Given the description of an element on the screen output the (x, y) to click on. 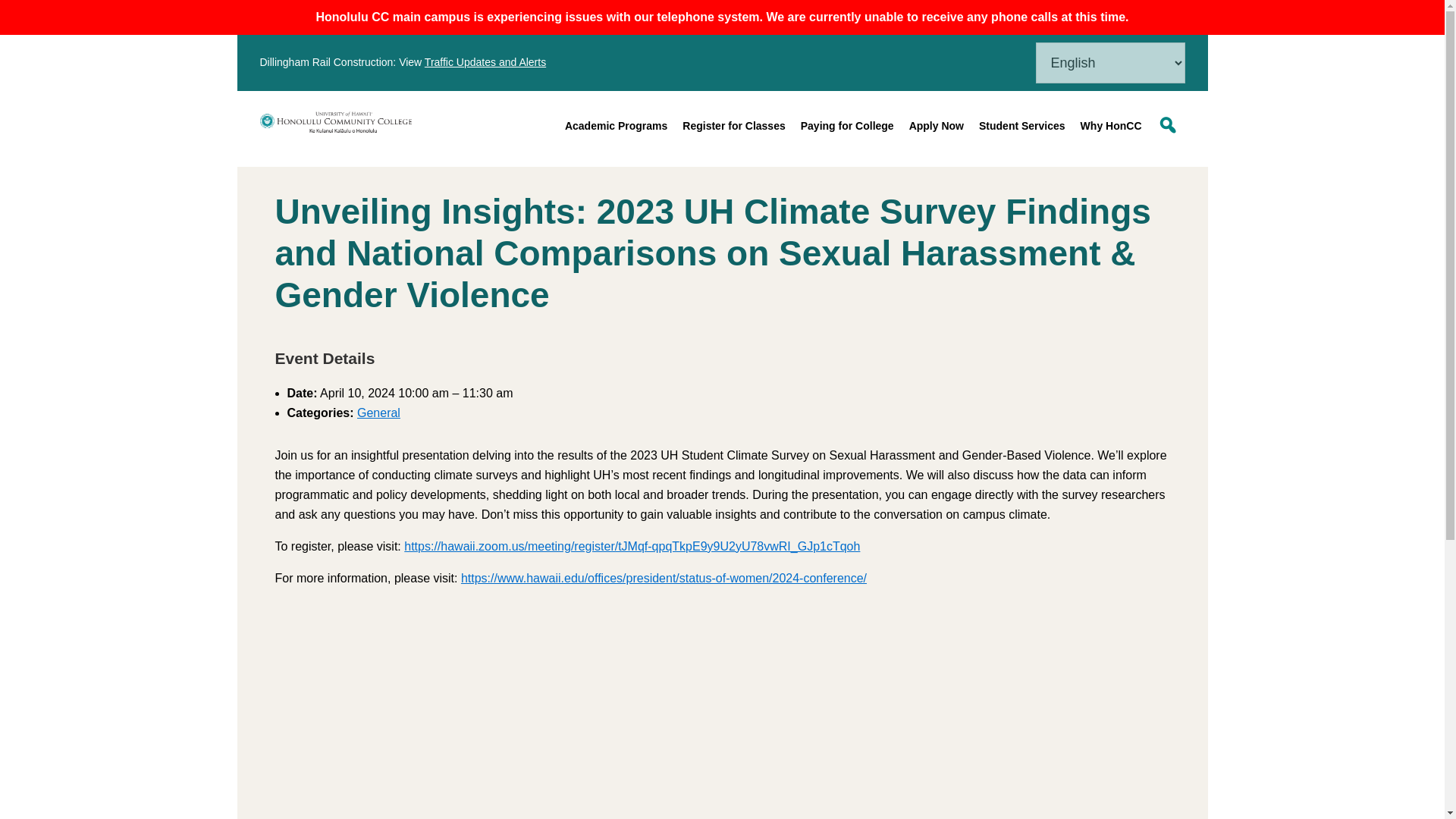
Academic Programs (616, 125)
Traffic Updates and Alerts (485, 61)
